Given the description of an element on the screen output the (x, y) to click on. 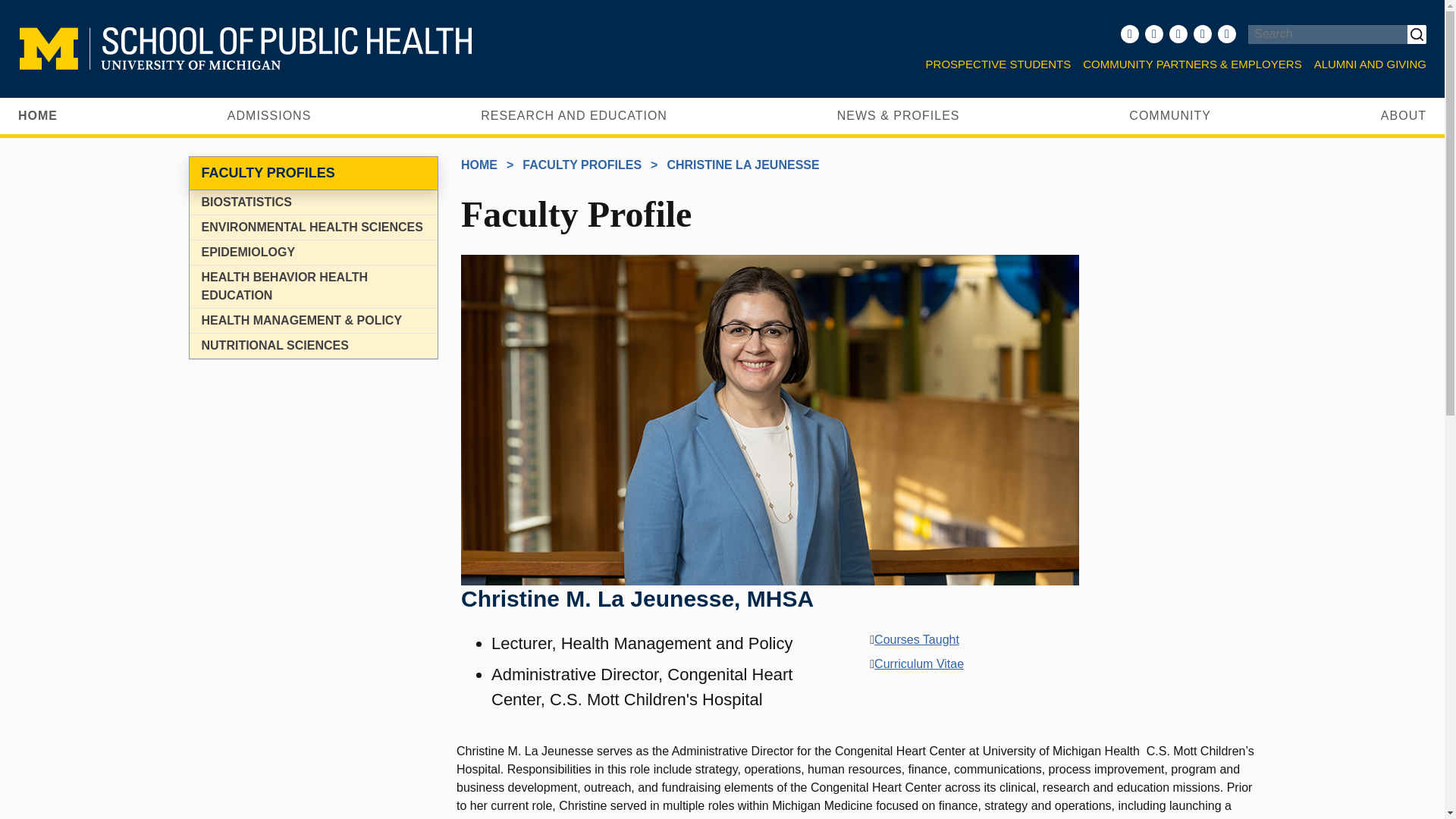
PROSPECTIVE STUDENTS (998, 64)
HOME (37, 115)
Watch us on YouTube (1178, 34)
Join our LinkedIn group (1226, 34)
Find us on Facebook (1129, 34)
facebook (1129, 34)
ALUMNI AND GIVING (1366, 64)
twitter (1153, 34)
instagram (1202, 34)
Follow us on Twitter (1153, 34)
youtube (1178, 34)
linkedin (1226, 34)
ADMISSIONS (269, 115)
RESEARCH AND EDUCATION (573, 115)
View our photos on Instagram (1202, 34)
